Given the description of an element on the screen output the (x, y) to click on. 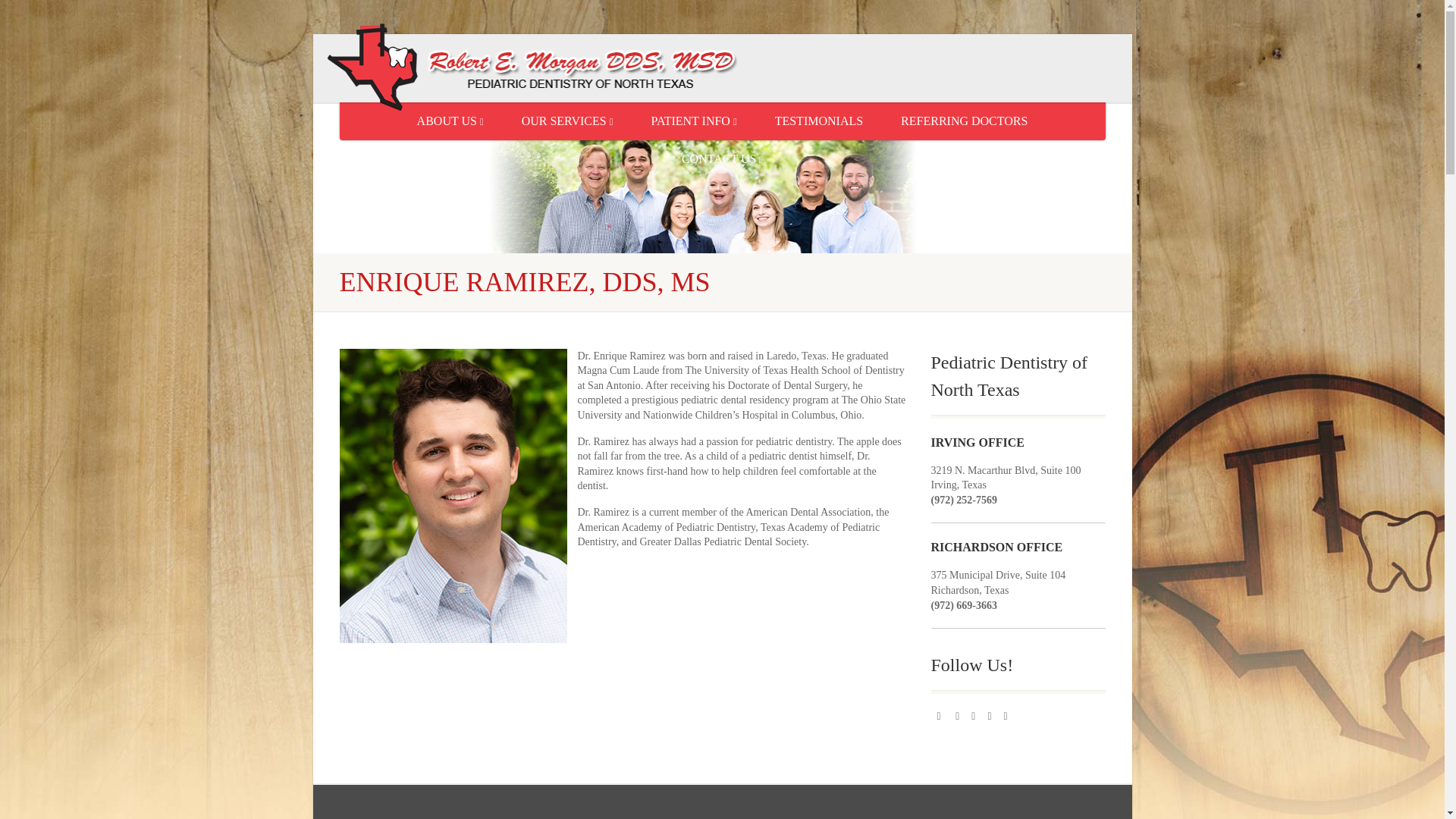
OUR SERVICES (566, 121)
REFERRING DOCTORS (964, 121)
TESTIMONIALS (818, 121)
PATIENT INFO (693, 121)
ABOUT US (449, 121)
CONTACT US (721, 159)
